Given the description of an element on the screen output the (x, y) to click on. 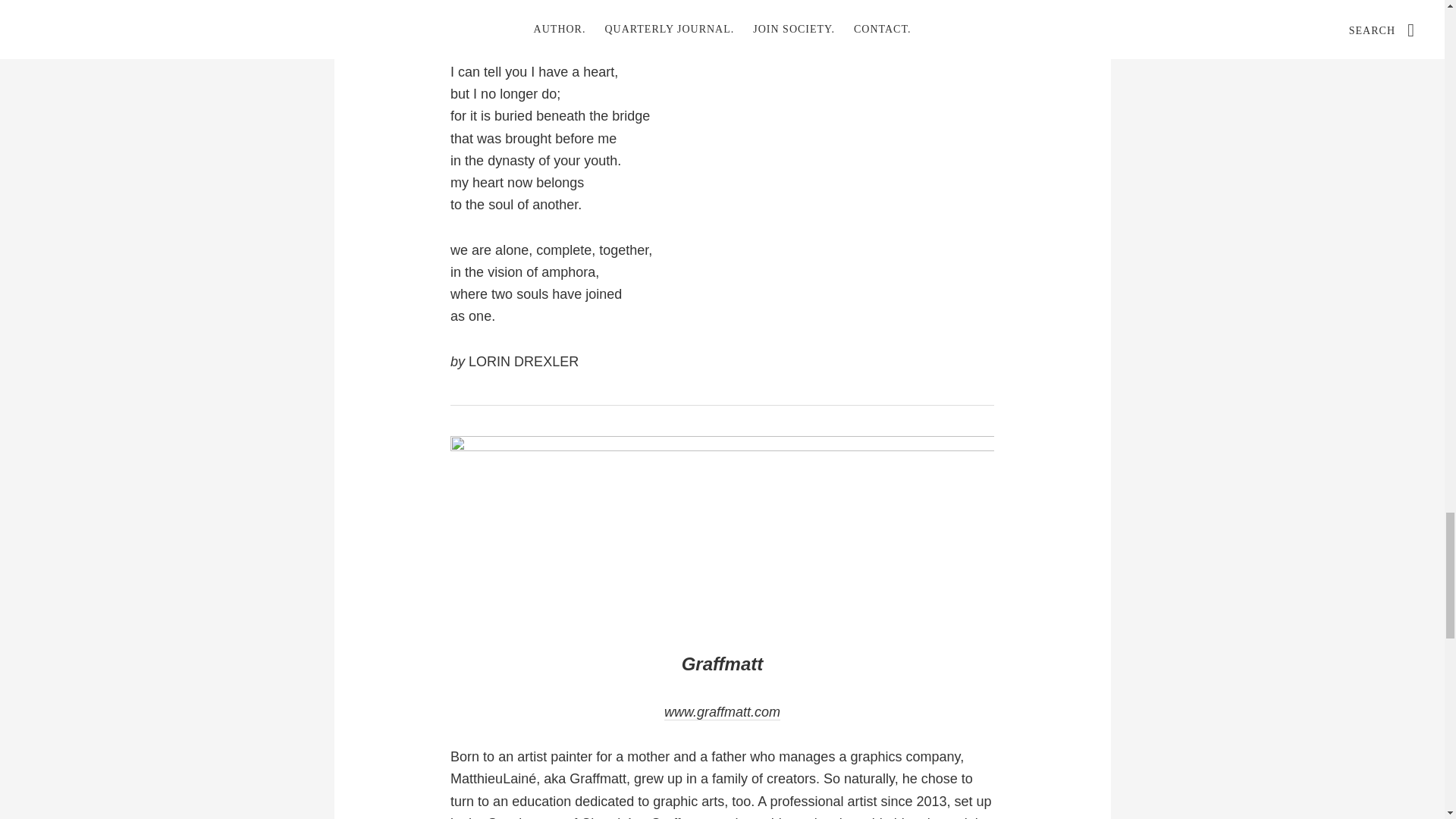
www.graffmatt.com (721, 712)
